Given the description of an element on the screen output the (x, y) to click on. 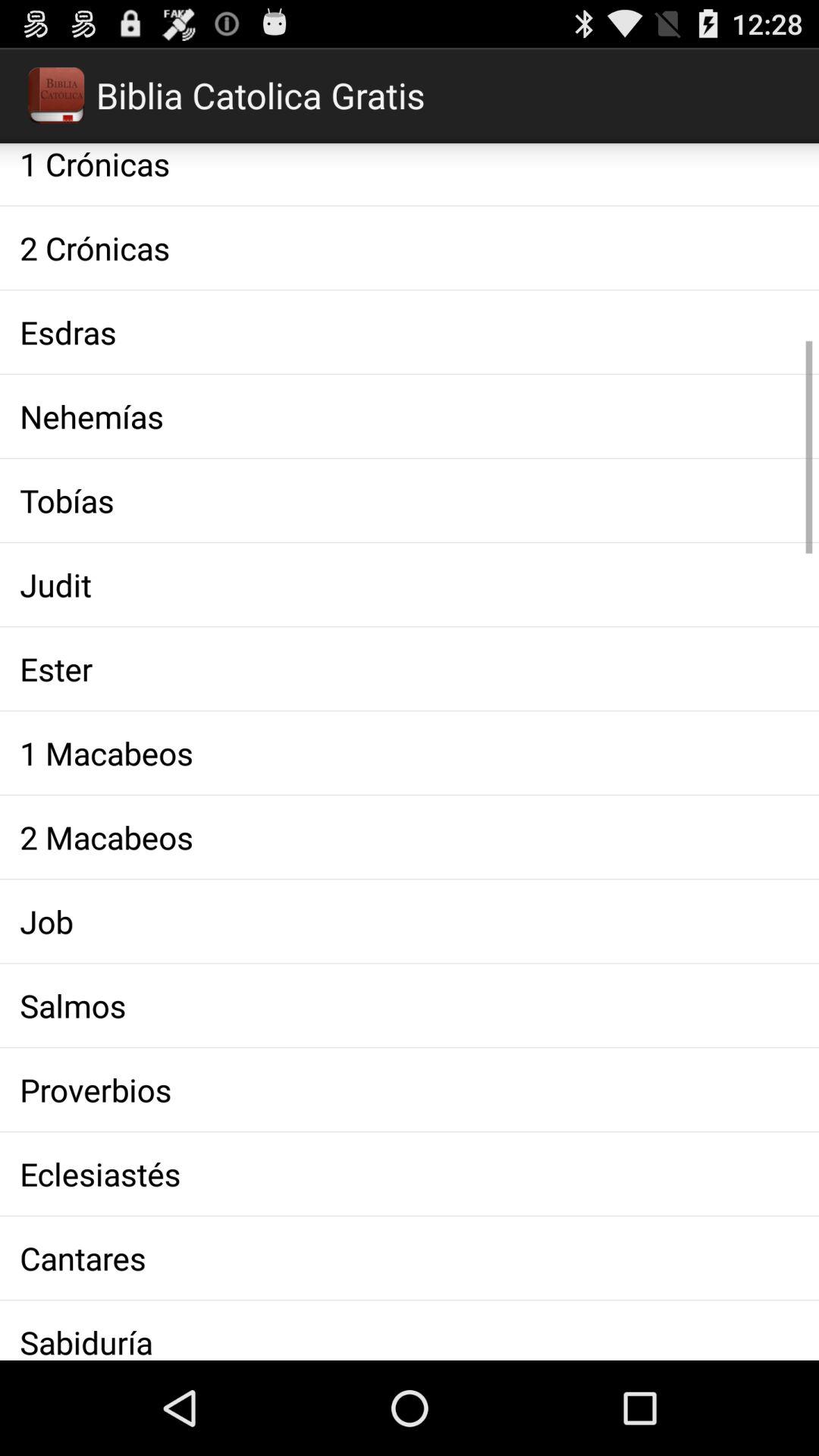
launch the job app (409, 920)
